Given the description of an element on the screen output the (x, y) to click on. 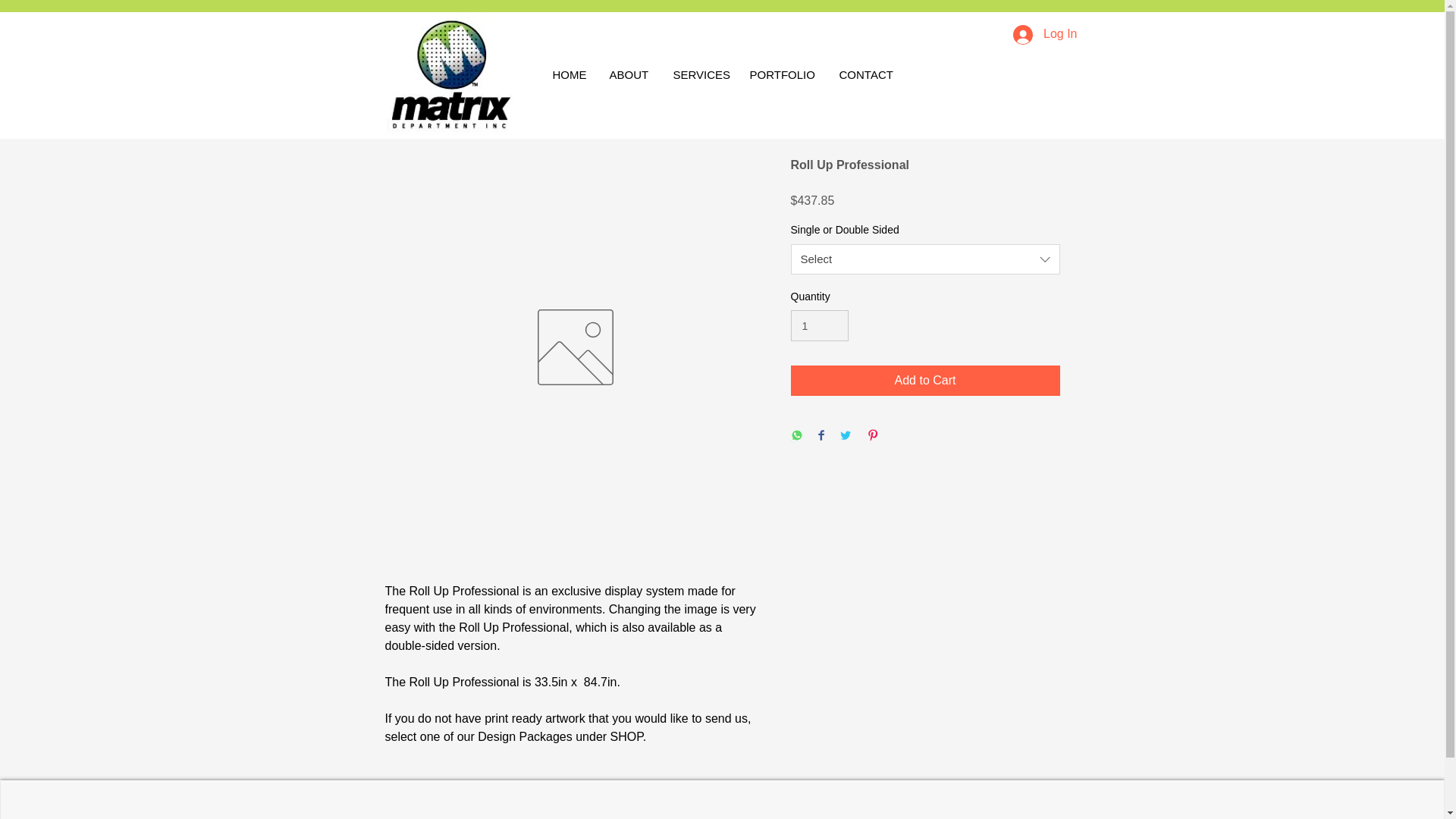
HOME (569, 74)
Select (924, 259)
Add to Cart (924, 380)
1 (818, 325)
ABOUT (628, 74)
SERVICES (699, 74)
Log In (1045, 33)
ABOUT (722, 815)
PORTFOLIO (783, 74)
CONTACT (869, 74)
